Given the description of an element on the screen output the (x, y) to click on. 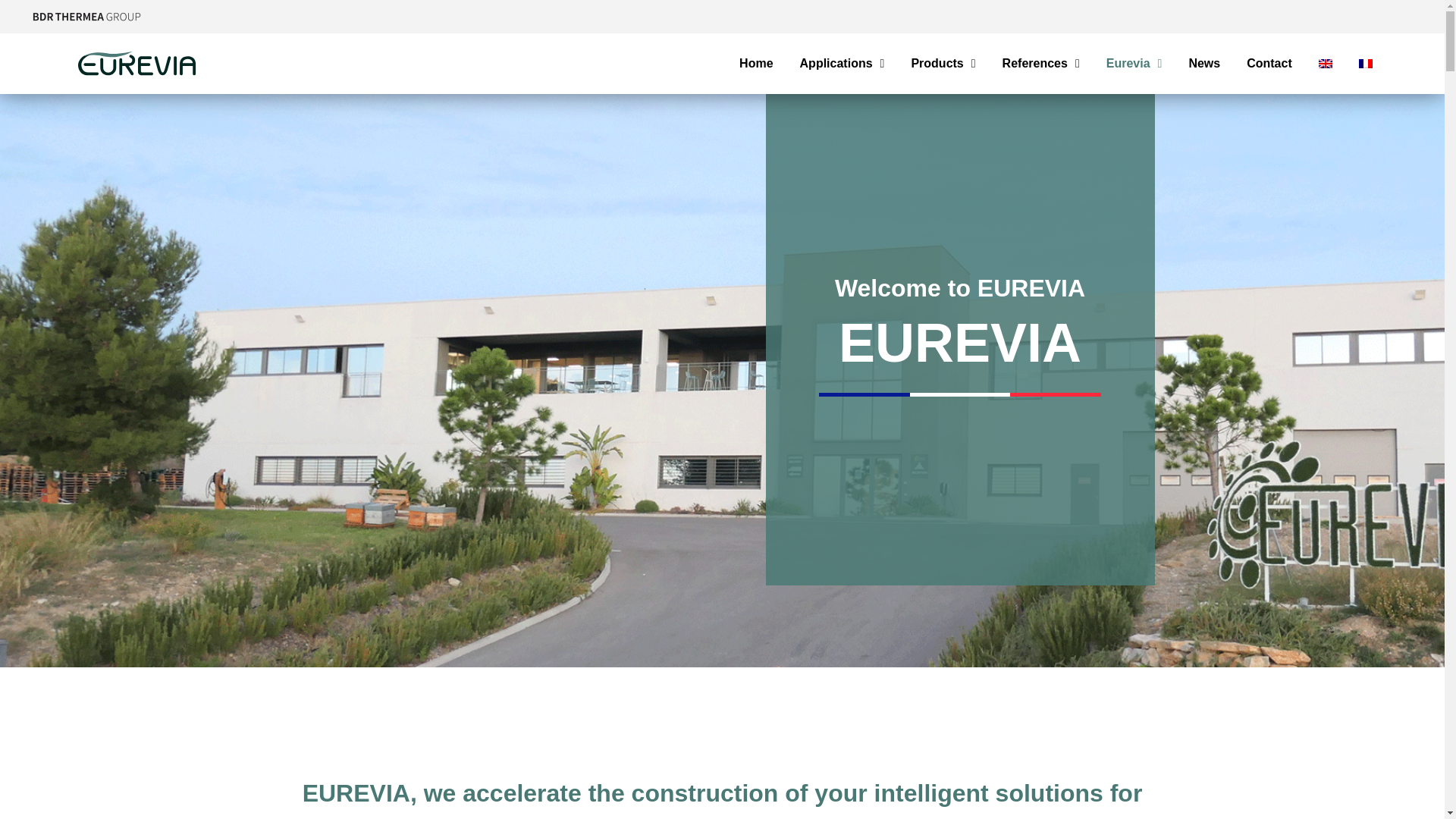
Eurevia (1133, 63)
Home (756, 63)
References (1041, 63)
BDR-Group-logo-min.png (86, 16)
Contact (1269, 63)
Products (943, 63)
Applications (842, 63)
News (1204, 63)
